Given the description of an element on the screen output the (x, y) to click on. 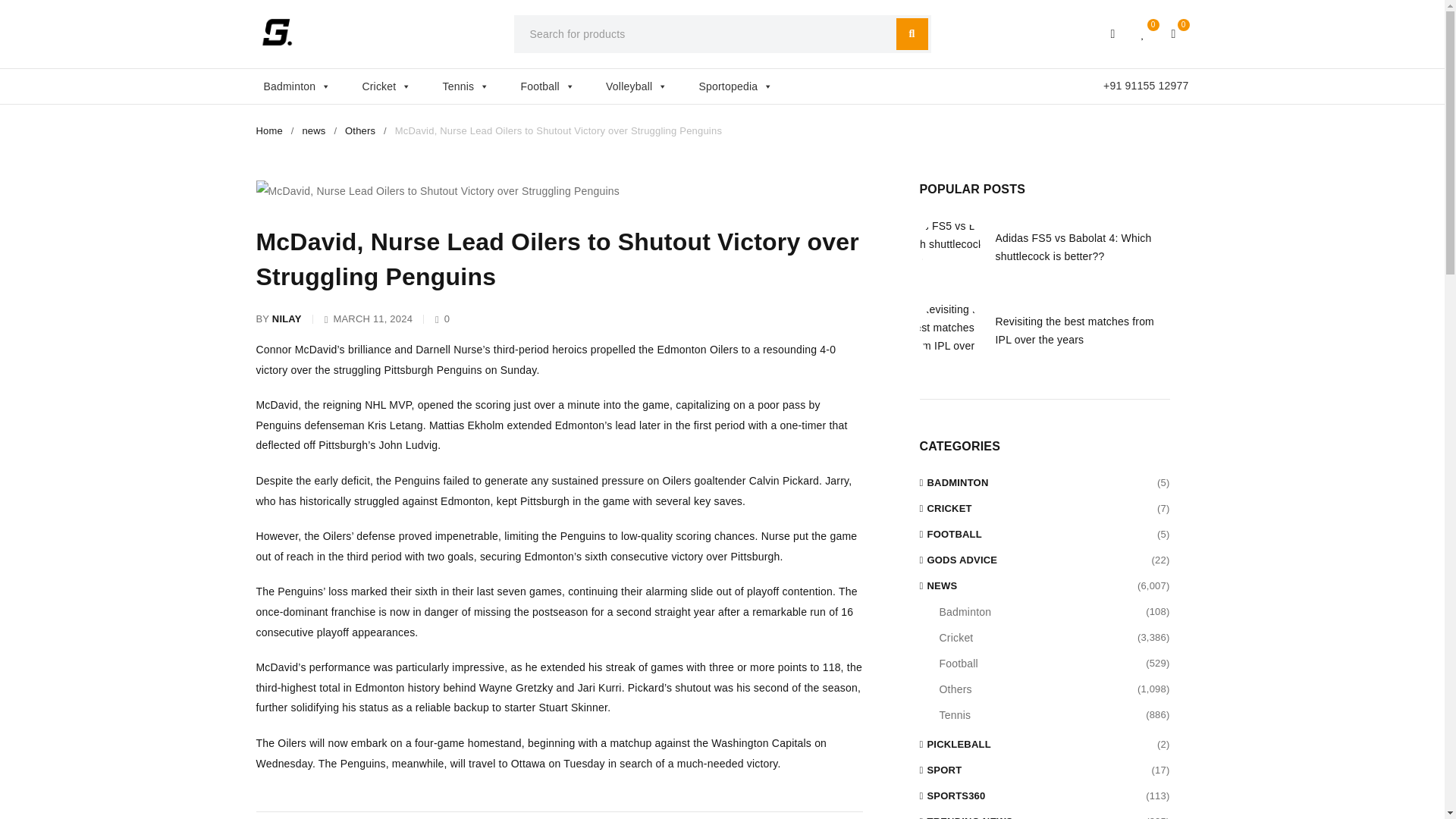
Posts by Nilay (286, 319)
Search (912, 33)
0 (1143, 33)
Search (912, 33)
Badminton (304, 86)
Login or Register (1112, 33)
Wishlist (1143, 33)
thegodofsports (277, 32)
View your shopping cart (1173, 33)
0 (1173, 33)
